Given the description of an element on the screen output the (x, y) to click on. 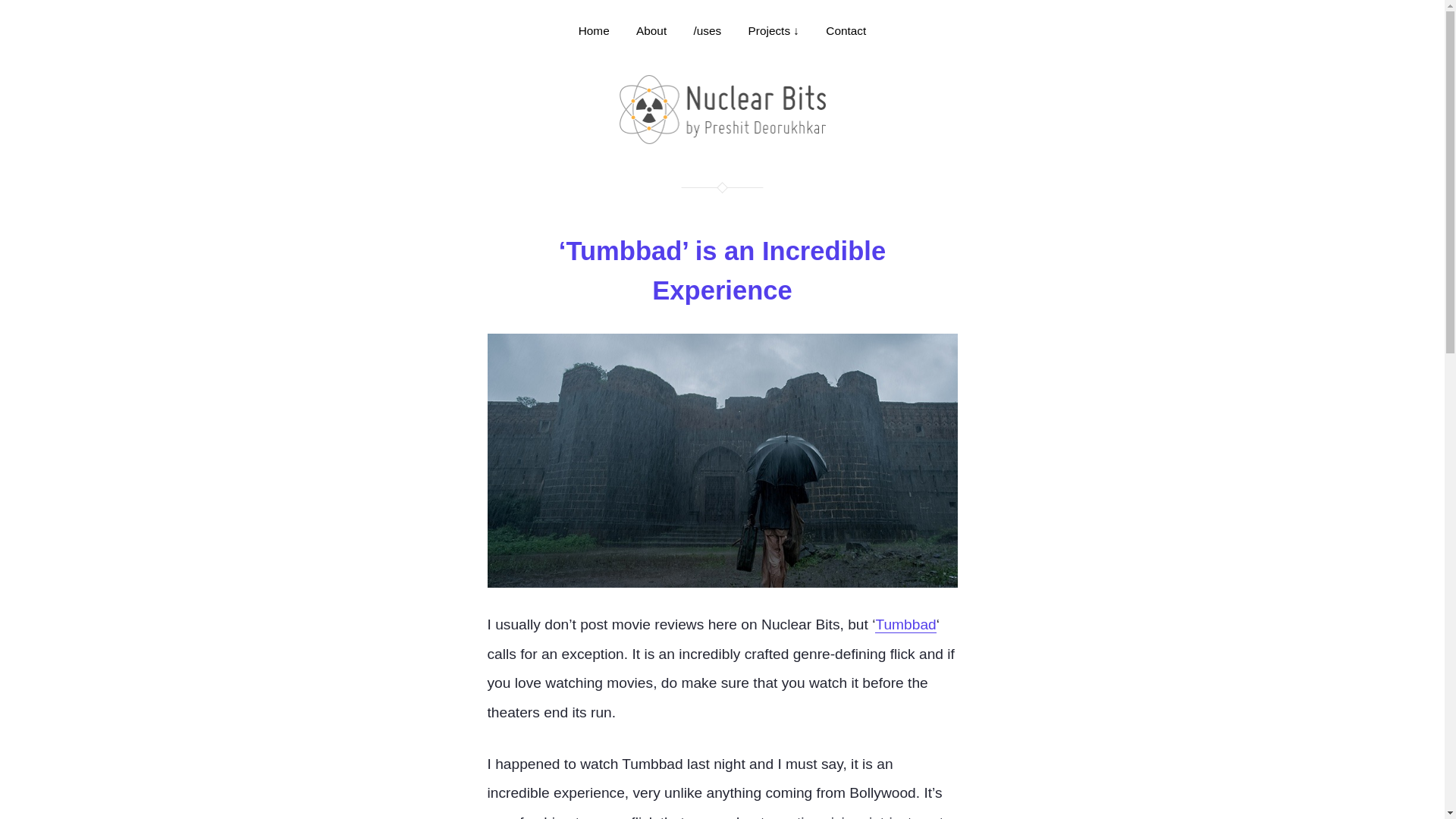
tumbbad-wada-featured.jpg (721, 460)
Projects (773, 30)
Home (594, 30)
About (651, 30)
Tumbbad (905, 624)
Contact (845, 30)
Stuff I Use (708, 30)
